Given the description of an element on the screen output the (x, y) to click on. 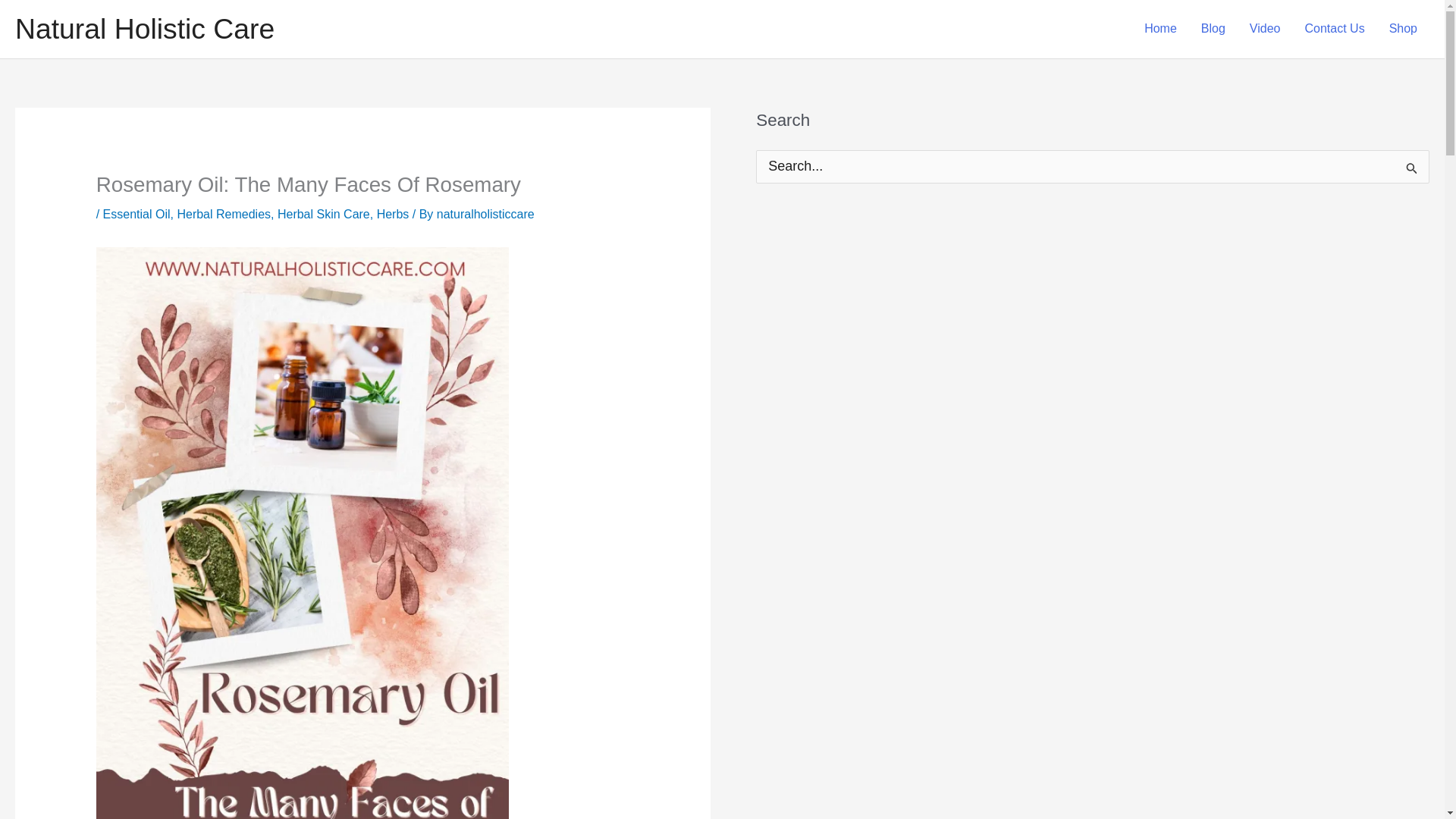
Home (1160, 28)
View all posts by naturalholisticcare (485, 214)
Blog (1213, 28)
Video (1264, 28)
Essential Oil (136, 214)
Shop (1403, 28)
naturalholisticcare (485, 214)
Natural Holistic Care (144, 29)
Herbal Remedies (223, 214)
Herbal Skin Care (323, 214)
